Given the description of an element on the screen output the (x, y) to click on. 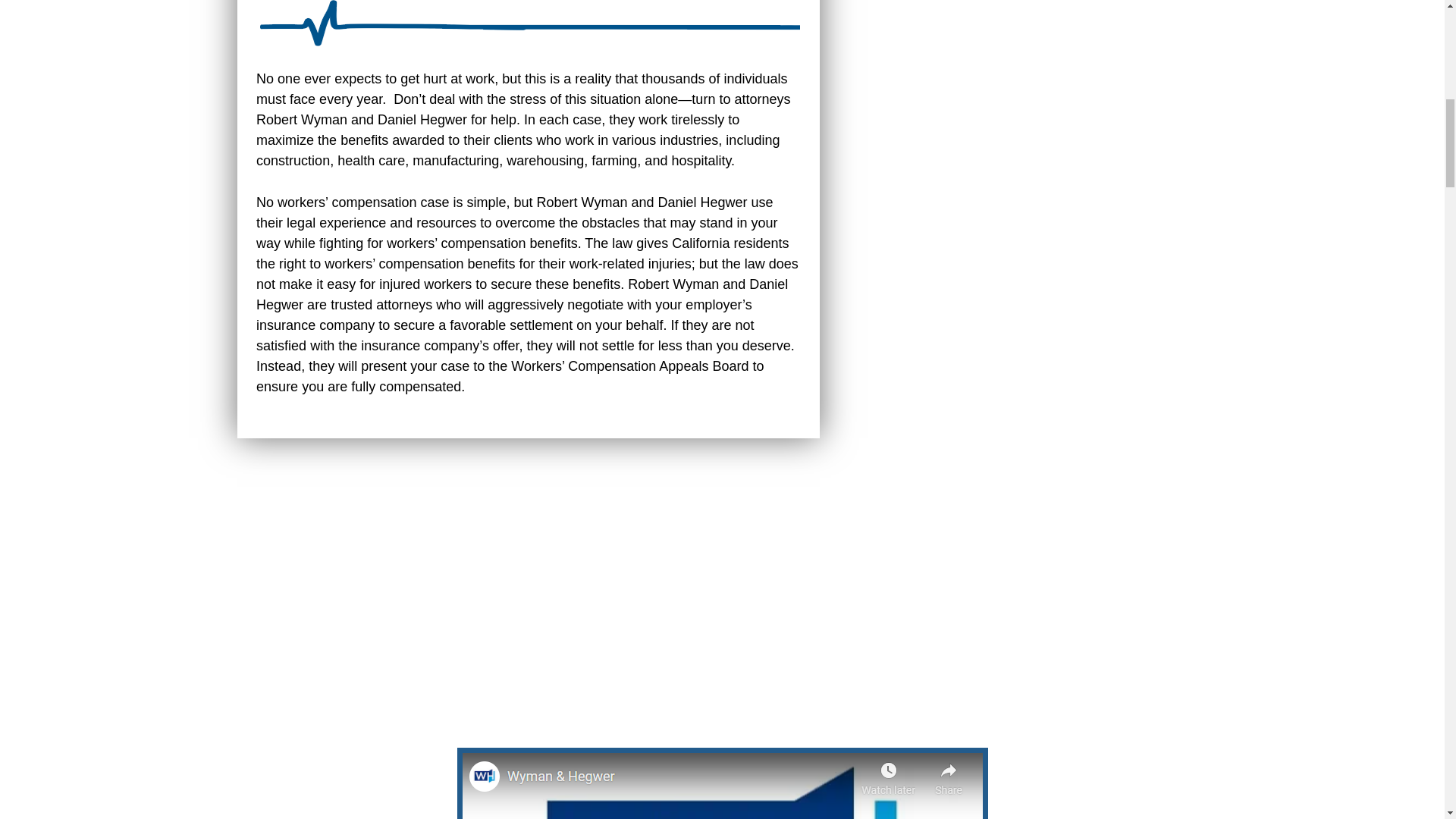
Click to activate video (721, 783)
